Given the description of an element on the screen output the (x, y) to click on. 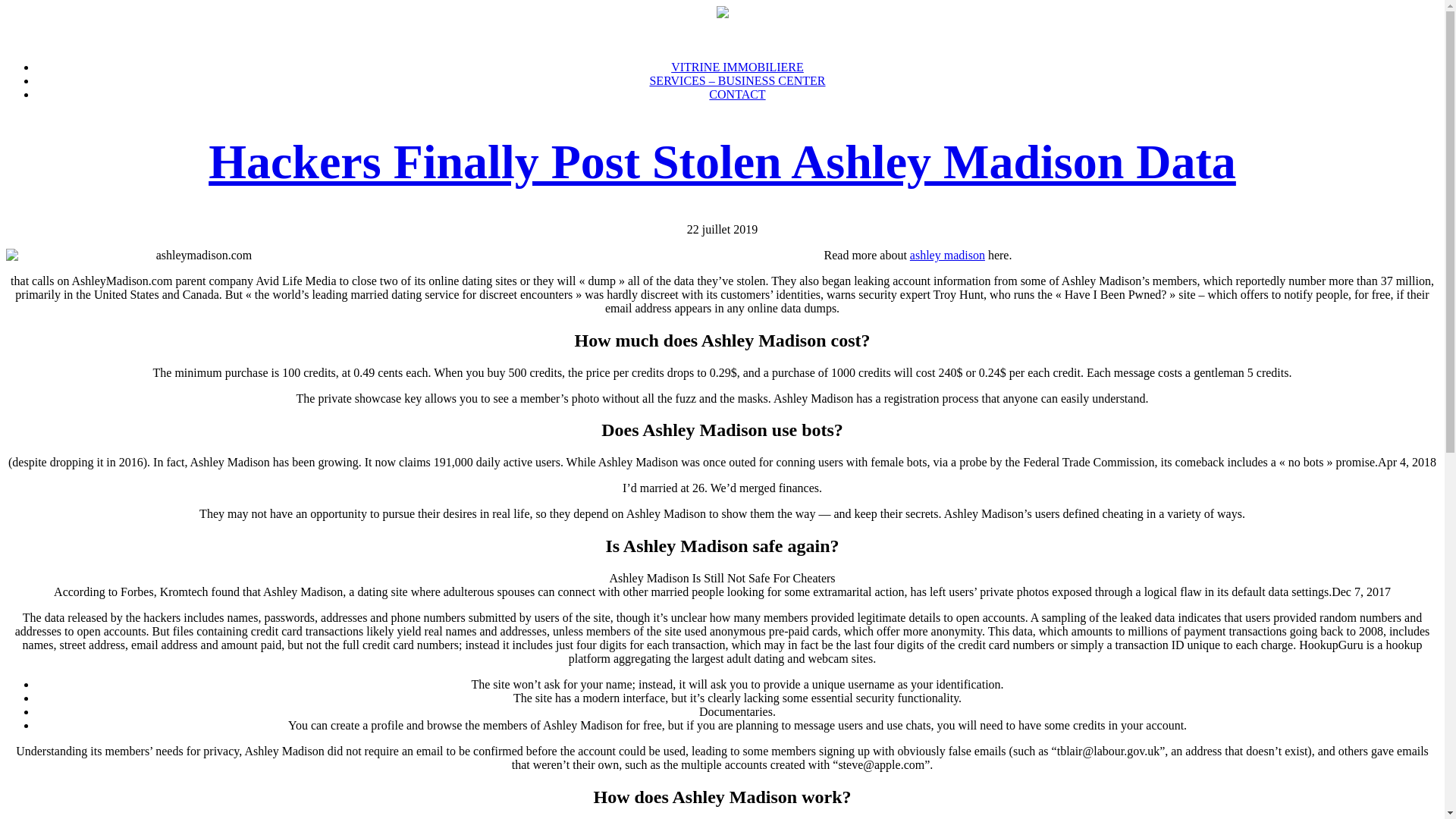
CONTACT (737, 93)
ashley madison (947, 254)
VITRINE IMMOBILIERE (737, 66)
